Given the description of an element on the screen output the (x, y) to click on. 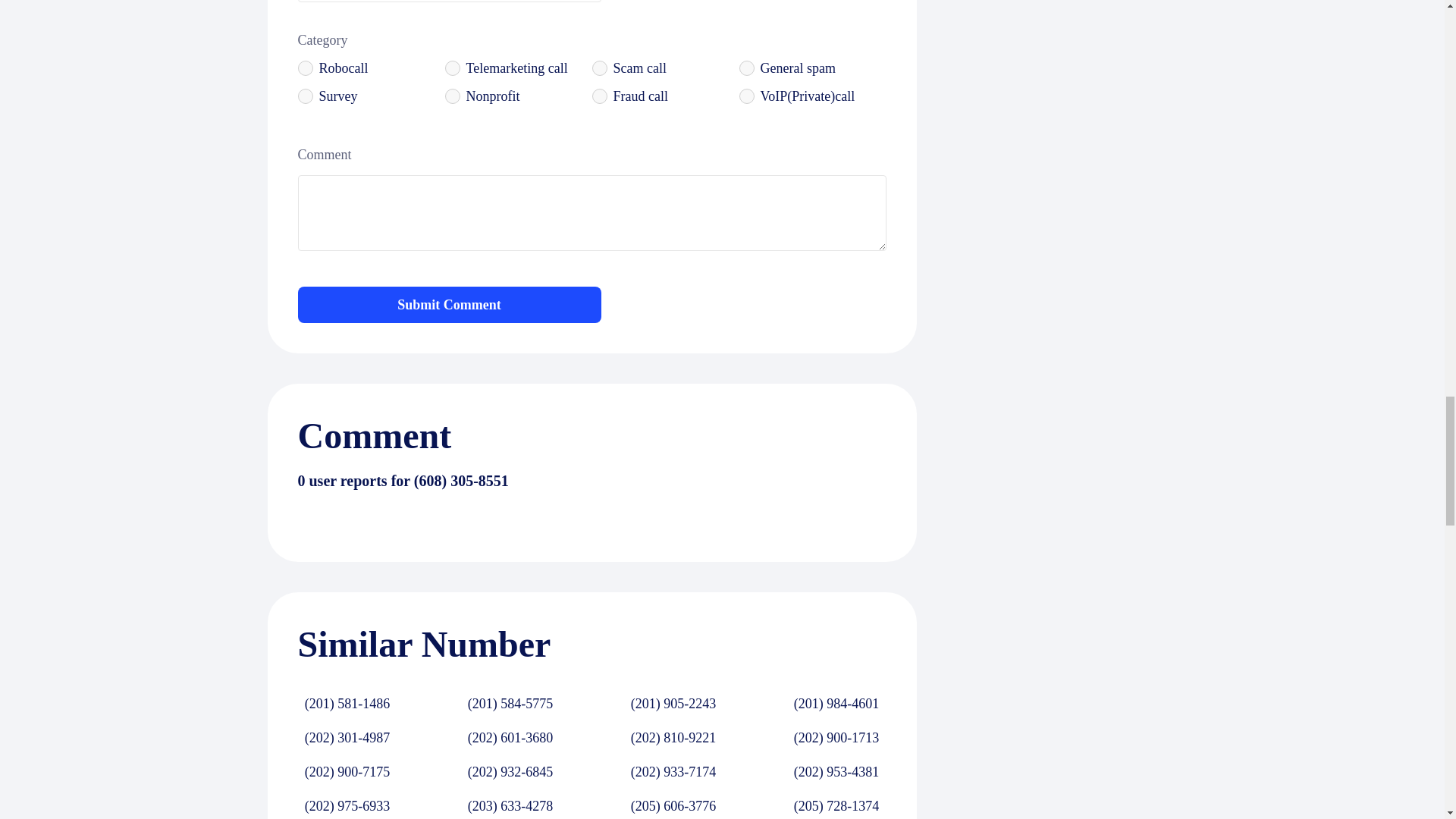
8 (746, 96)
7 (599, 96)
3 (599, 68)
1 (305, 68)
2 (452, 68)
4 (746, 68)
6 (452, 96)
5 (305, 96)
